Given the description of an element on the screen output the (x, y) to click on. 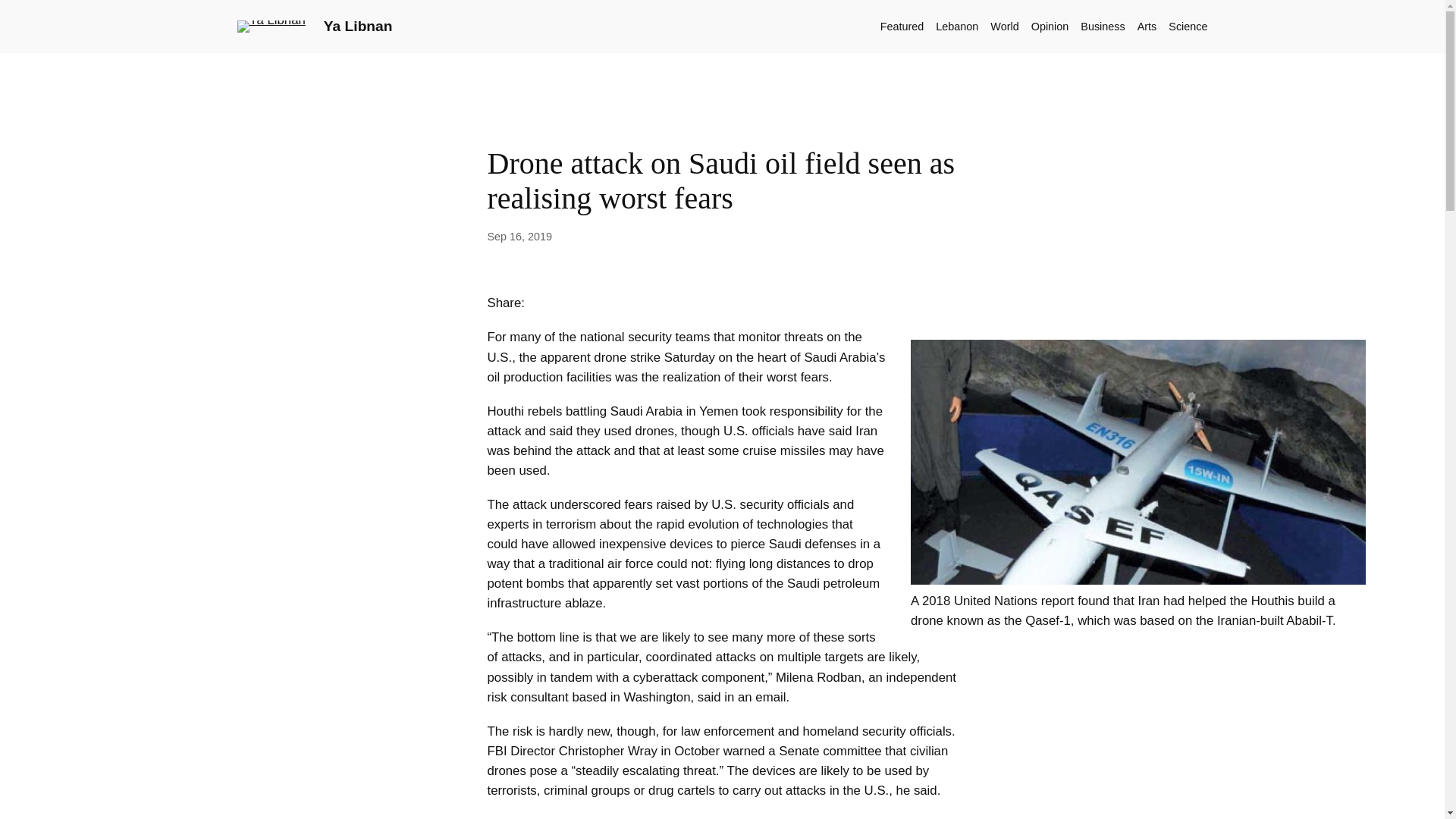
World (1003, 26)
Opinion (1049, 26)
Ya Libnan (358, 26)
Lebanon (957, 26)
Science (1188, 26)
Business (1102, 26)
Sep 16, 2019 (518, 236)
Arts (1147, 26)
Featured (902, 26)
